Given the description of an element on the screen output the (x, y) to click on. 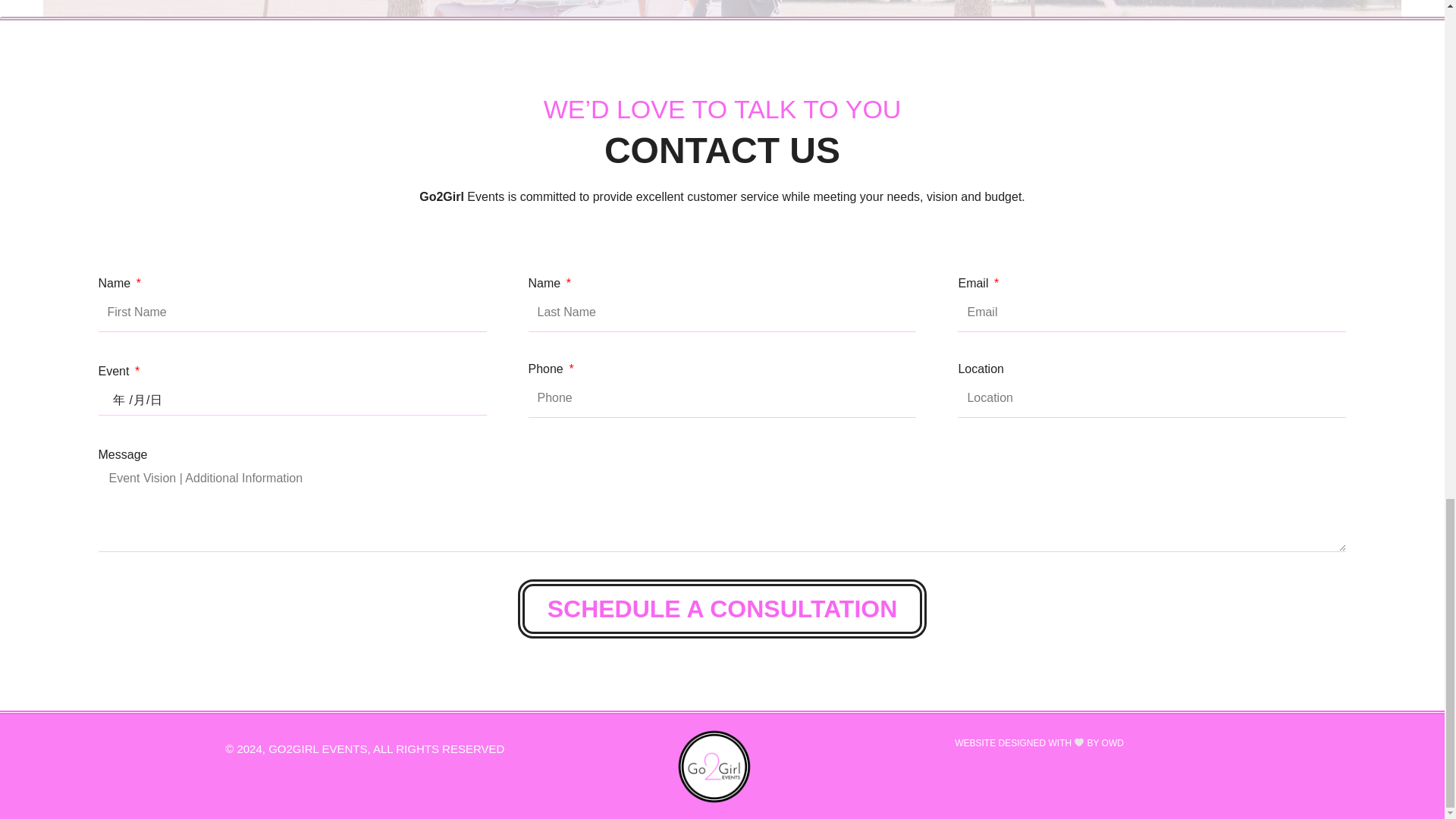
WEBSITE DESIGNED WITH BY OWD (1039, 742)
SCHEDULE A CONSULTATION (722, 608)
